Given the description of an element on the screen output the (x, y) to click on. 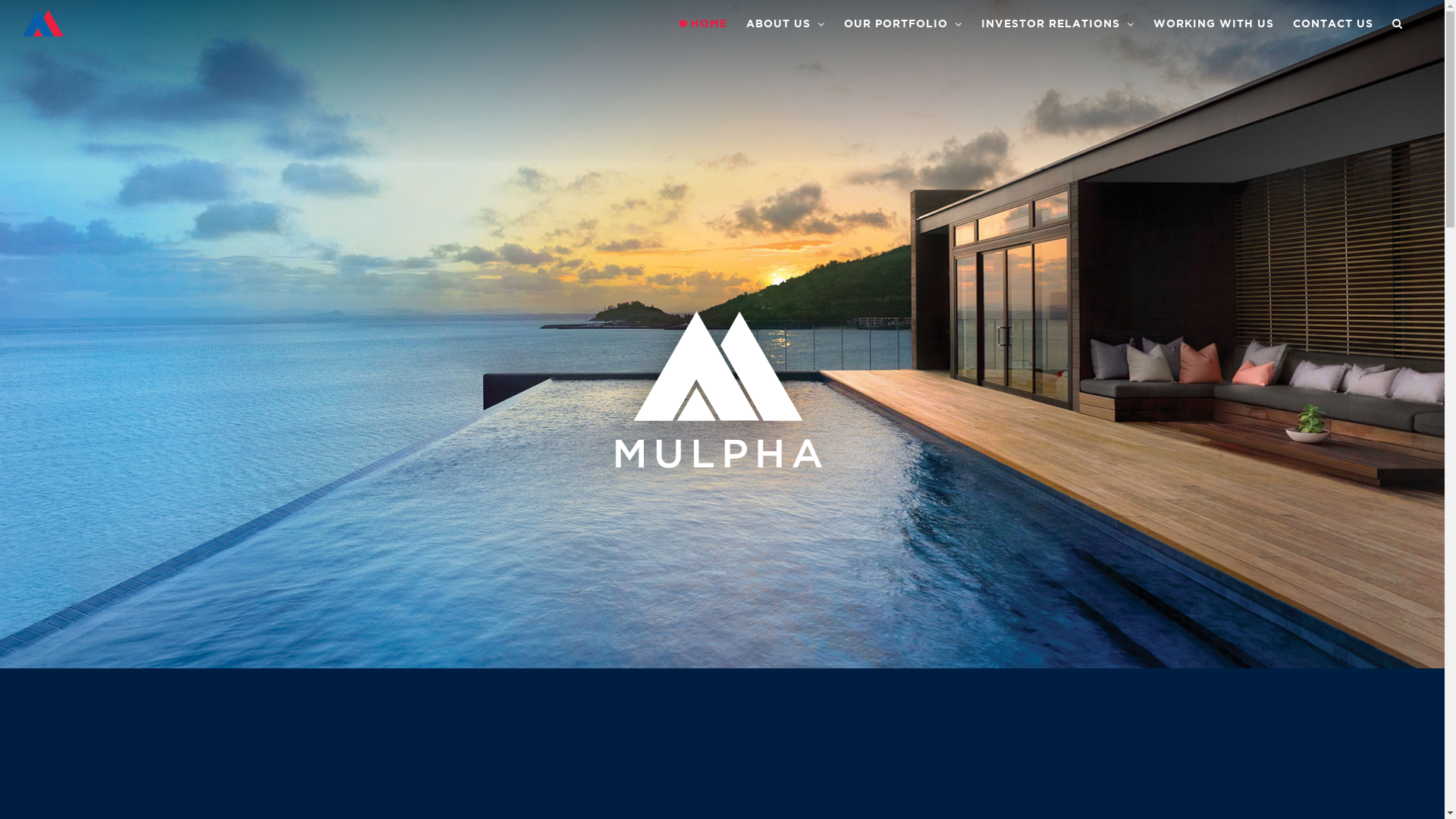
HOME Element type: text (703, 23)
WORKING WITH US Element type: text (1213, 23)
ABOUT US Element type: text (785, 23)
CONTACT US Element type: text (1332, 23)
INVESTOR RELATIONS Element type: text (1057, 23)
OUR PORTFOLIO Element type: text (903, 23)
Search Element type: hover (1397, 23)
